Given the description of an element on the screen output the (x, y) to click on. 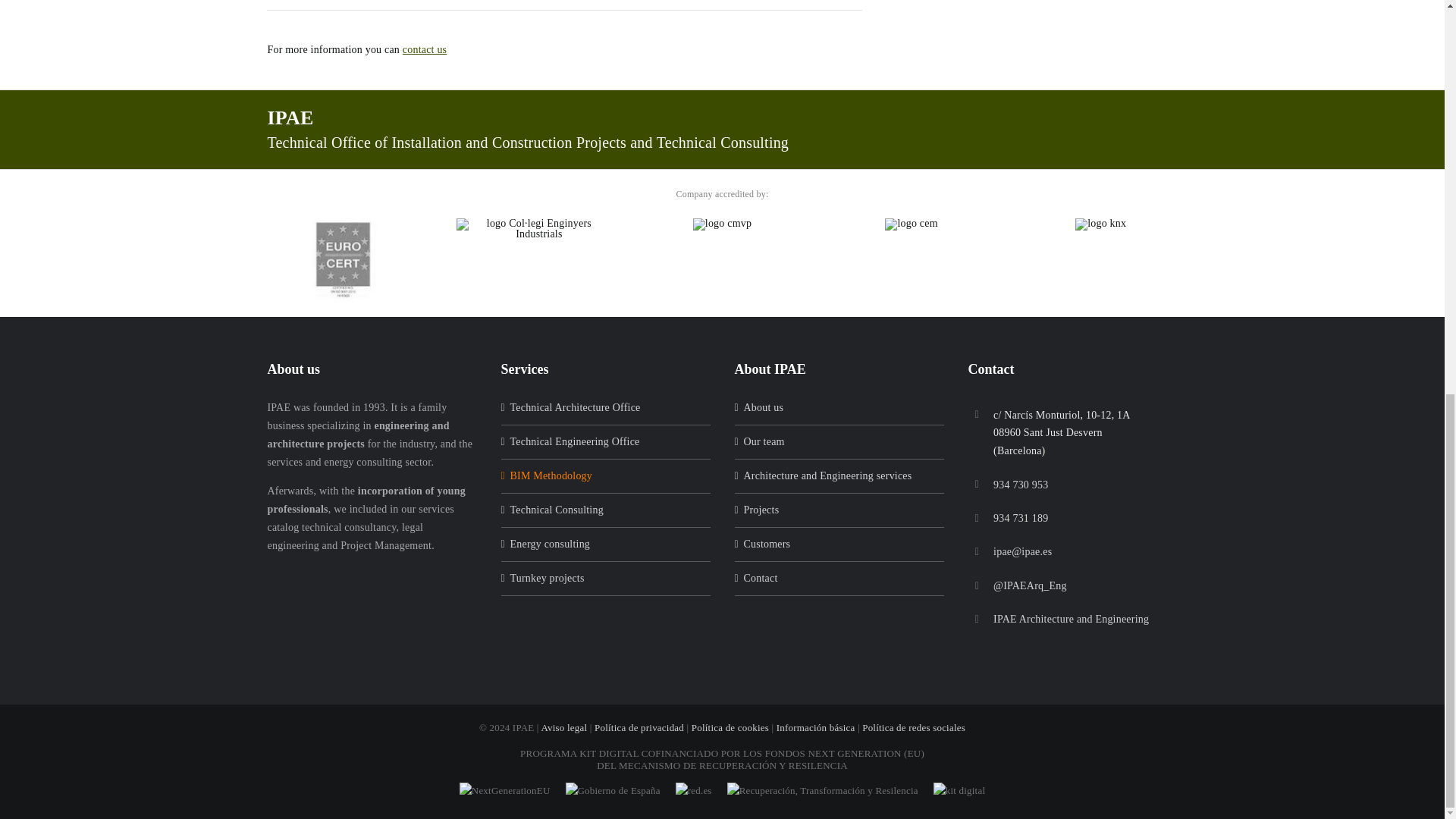
logo cem (911, 224)
logo euro cert (343, 260)
logo cmvp (722, 224)
logo knx (1100, 224)
